Given the description of an element on the screen output the (x, y) to click on. 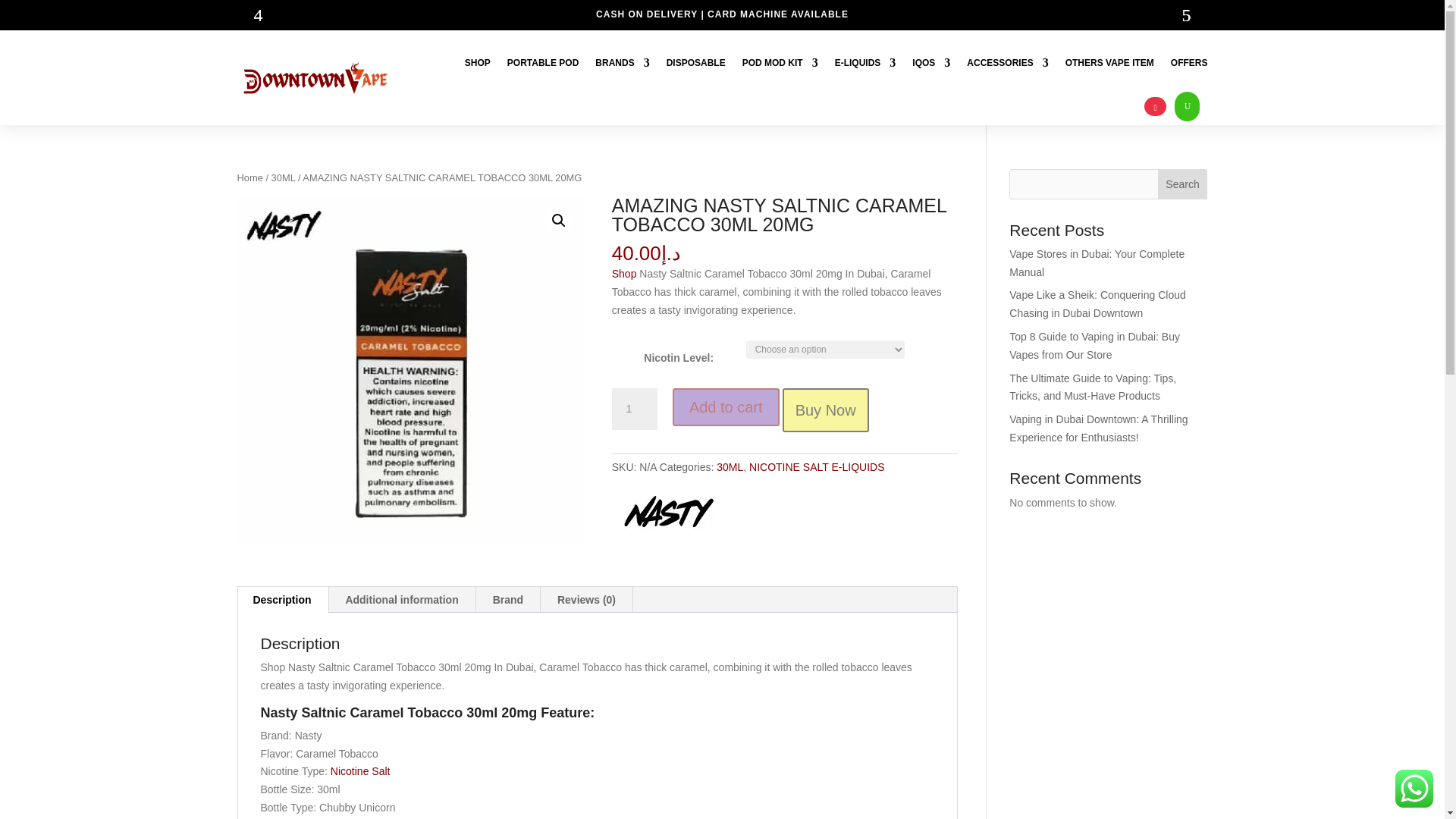
Nasty-Saltnic-30ml-Caramel-Tobbaco-20Mg.jpg (408, 369)
DISPOSABLE (695, 62)
NASTY (668, 514)
ACCESSORIES (1007, 62)
OTHERS VAPE ITEM (1109, 62)
1 (634, 409)
POD MOD KIT (780, 62)
PORTABLE POD (542, 62)
E-LIQUIDS (865, 62)
BRANDS (622, 62)
